Given the description of an element on the screen output the (x, y) to click on. 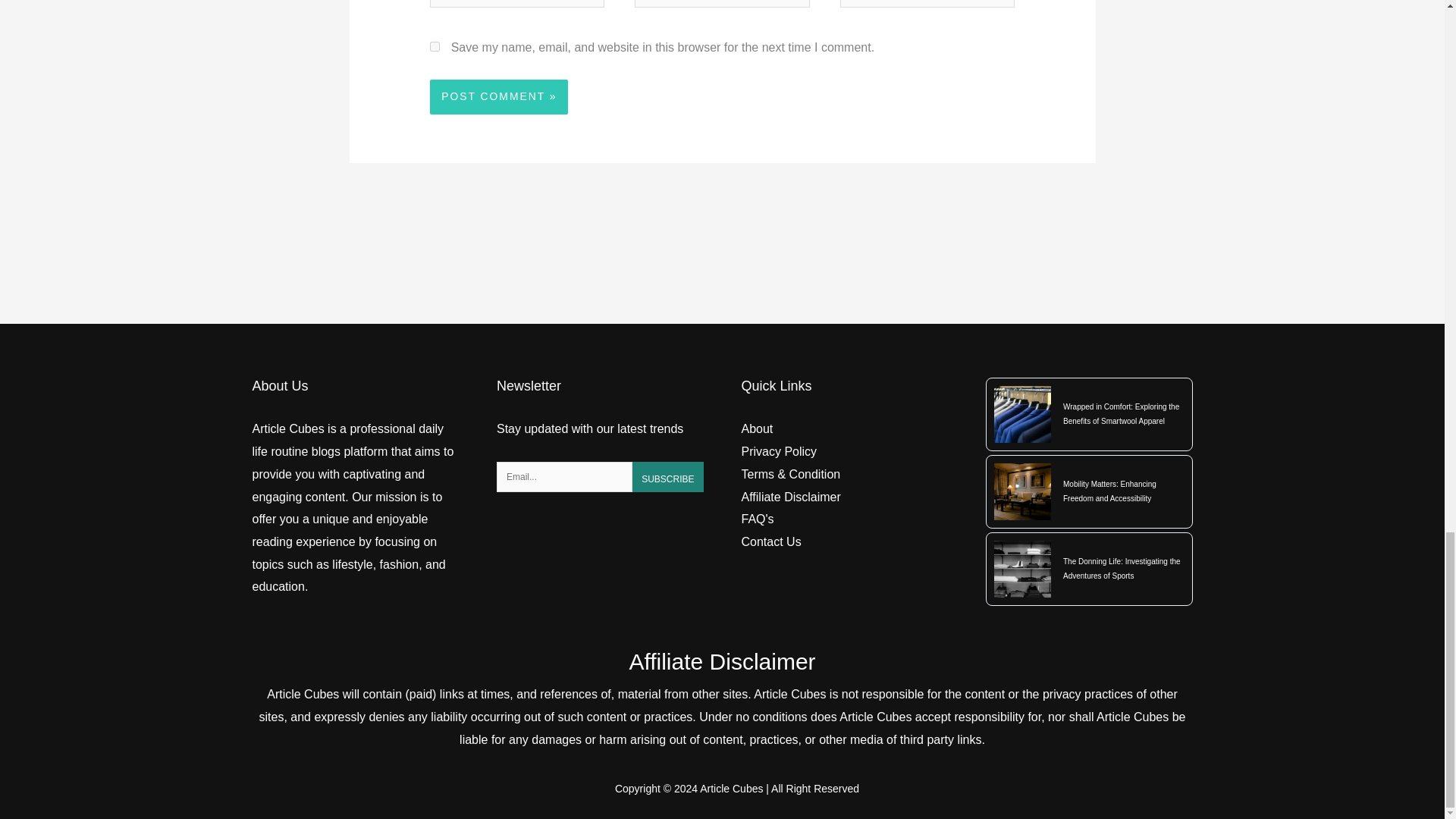
Contact Us (771, 541)
About (757, 428)
The Donning Life: Investigating the Adventures of Sports (1123, 569)
Subscribe (667, 476)
Privacy Policy (778, 451)
Mobility Matters: Enhancing Freedom and Accessibility (1123, 491)
yes (434, 46)
FAQ's (757, 518)
Subscribe (667, 476)
Affiliate Disclaimer (791, 496)
